Given the description of an element on the screen output the (x, y) to click on. 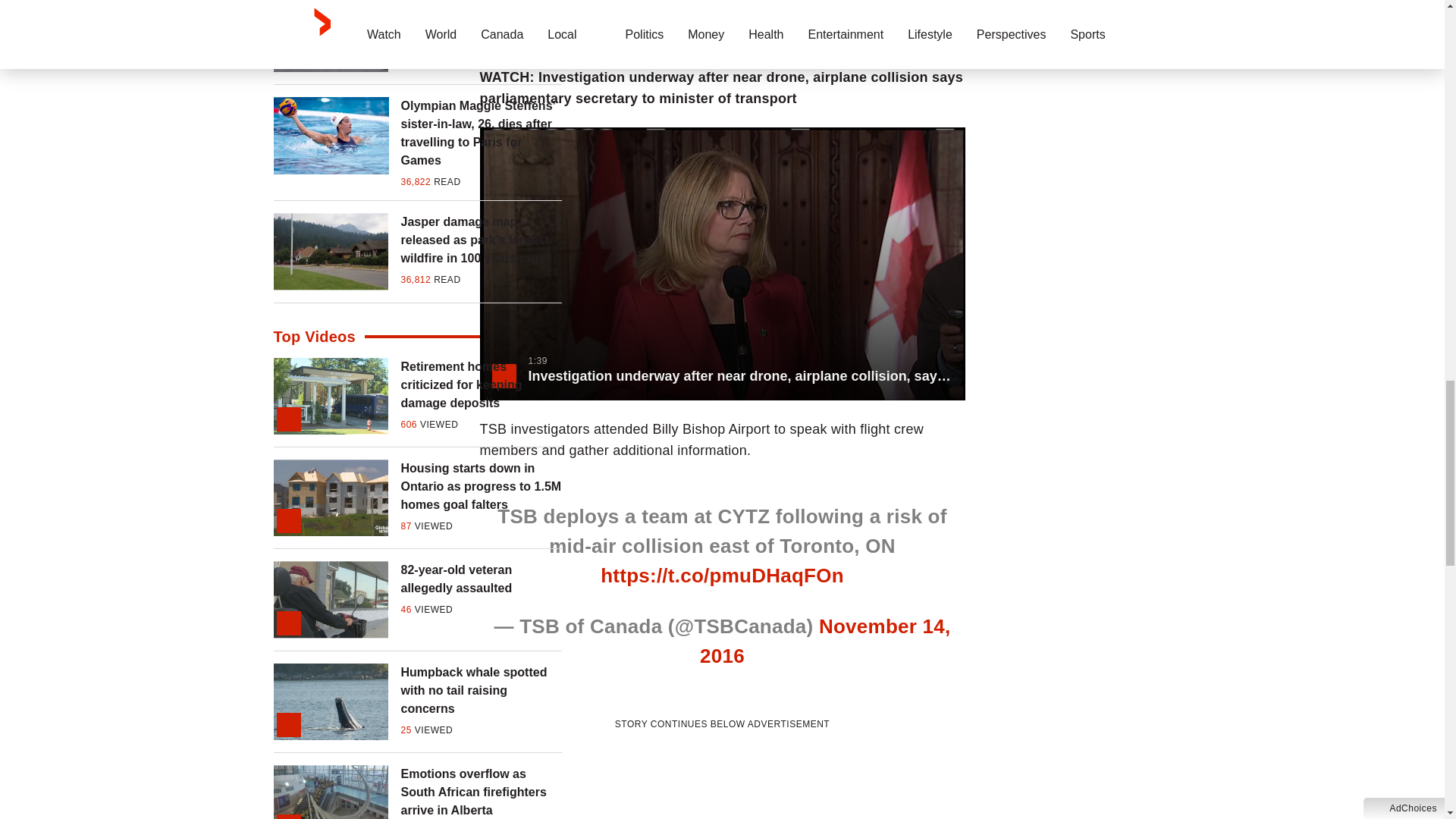
Retirement homes criticized for keeping damage deposits (480, 384)
82-year-old veteran allegedly assaulted (480, 579)
Humpback whale spotted with no tail raising concerns (480, 690)
